Given the description of an element on the screen output the (x, y) to click on. 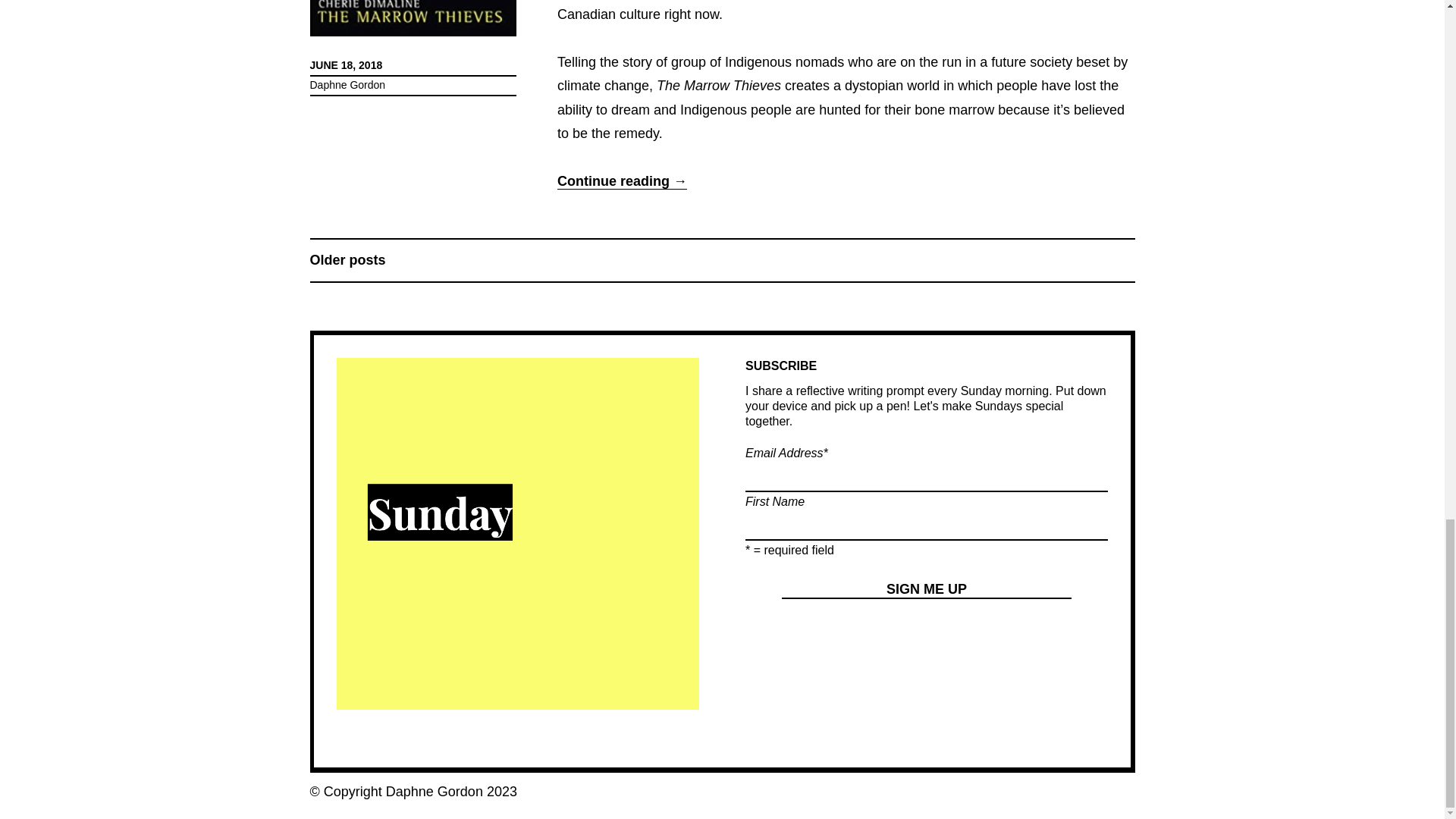
Sign me up (926, 589)
Copyright Daphne Gordon 2023 (419, 791)
Sign me up (926, 589)
Daphne Gordon (419, 791)
Daphne Gordon (346, 84)
JUNE 18, 2018 (344, 64)
Older posts (346, 259)
